Given the description of an element on the screen output the (x, y) to click on. 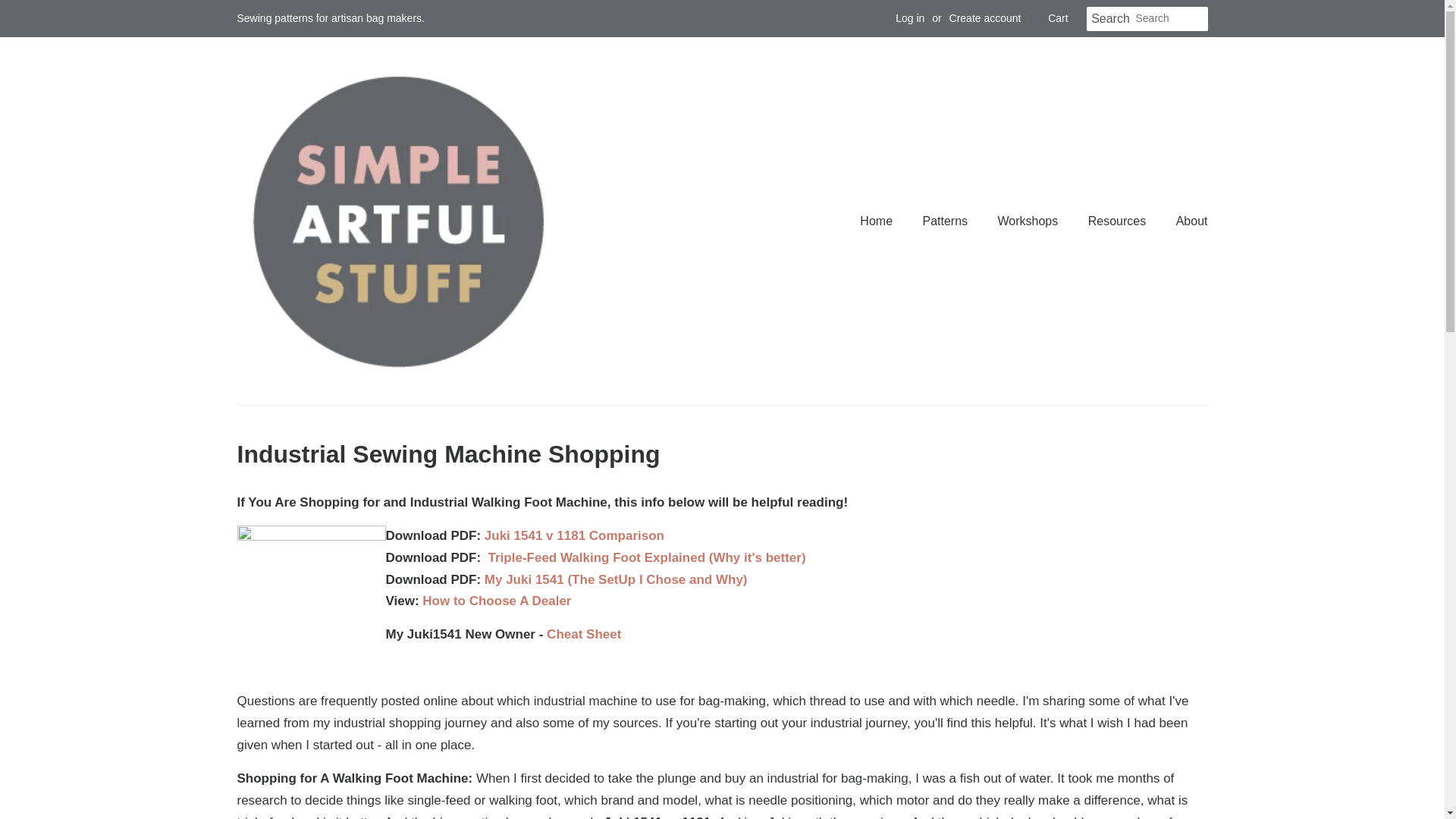
Create account (985, 18)
Search (1110, 18)
Choosing an Industrial Machine Dealer (496, 600)
Log in (909, 18)
Patterns (946, 220)
Cart (1057, 18)
Workshops (1030, 220)
Resources (1118, 220)
Home (883, 220)
